Given the description of an element on the screen output the (x, y) to click on. 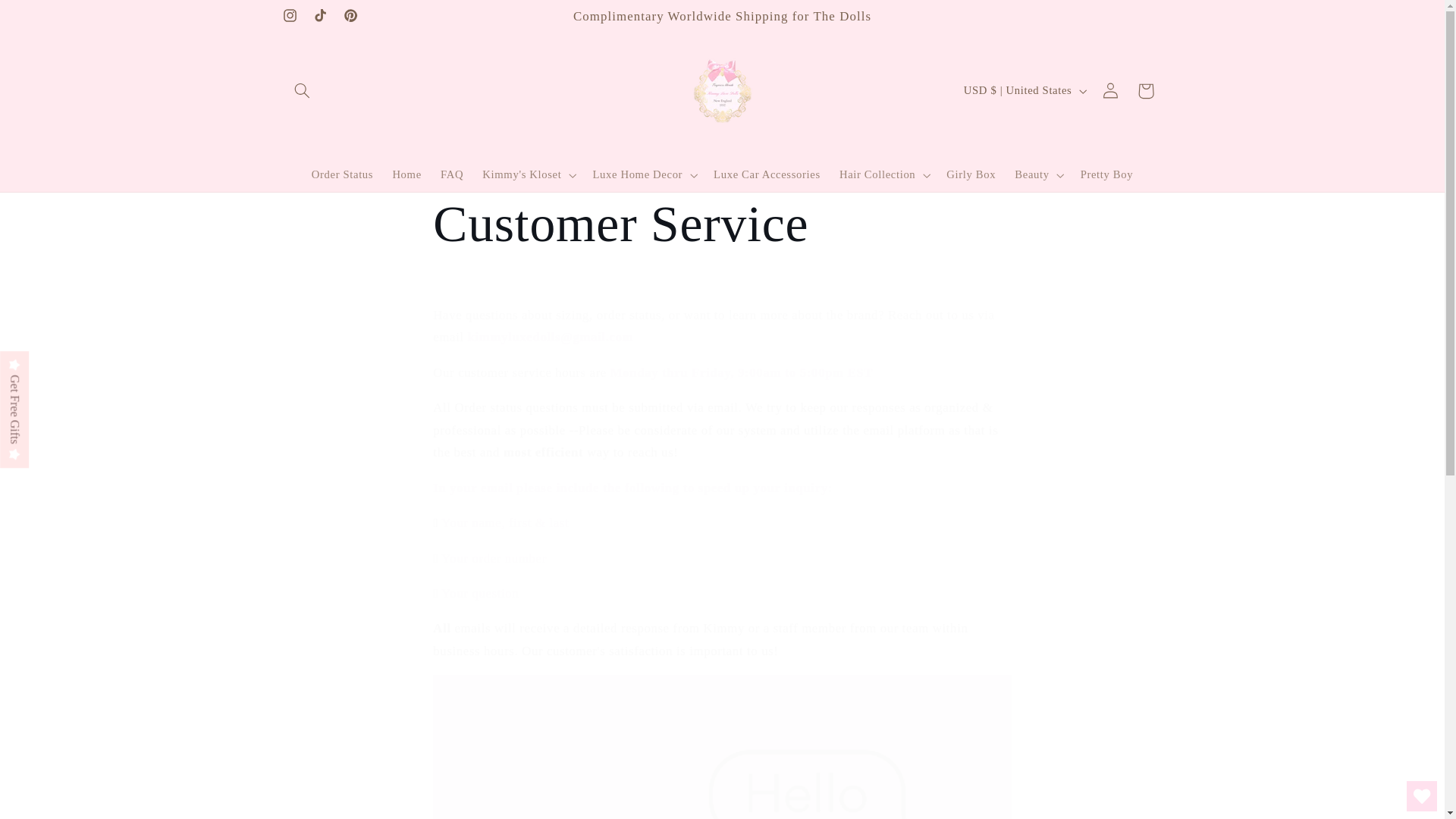
Pinterest (349, 15)
TikTok (319, 15)
Instagram (289, 15)
Skip to content (48, 18)
Customer Service (721, 224)
